Given the description of an element on the screen output the (x, y) to click on. 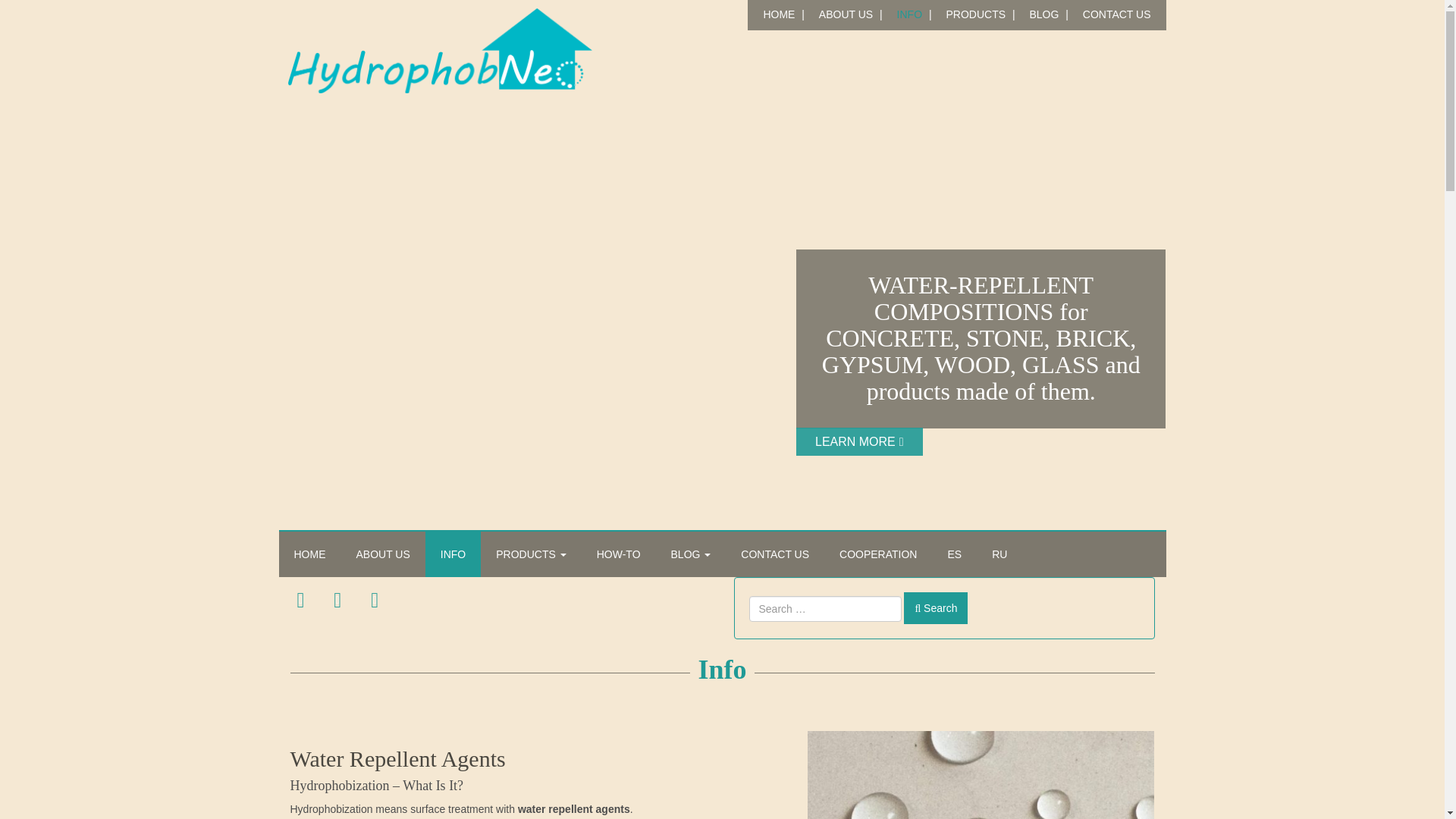
Blog (691, 554)
HydrophobNeo contact form (1116, 14)
INFO (452, 554)
HydrophobNeo water-repellent compositions (845, 14)
Info (722, 669)
LINKEDIN (336, 599)
How-To (618, 554)
Info (452, 554)
CONTACT US (774, 554)
INFO (909, 14)
BLOG (1043, 14)
HOME (777, 14)
ABOUT US (845, 14)
TWITTER (374, 599)
HOME (309, 554)
